Given the description of an element on the screen output the (x, y) to click on. 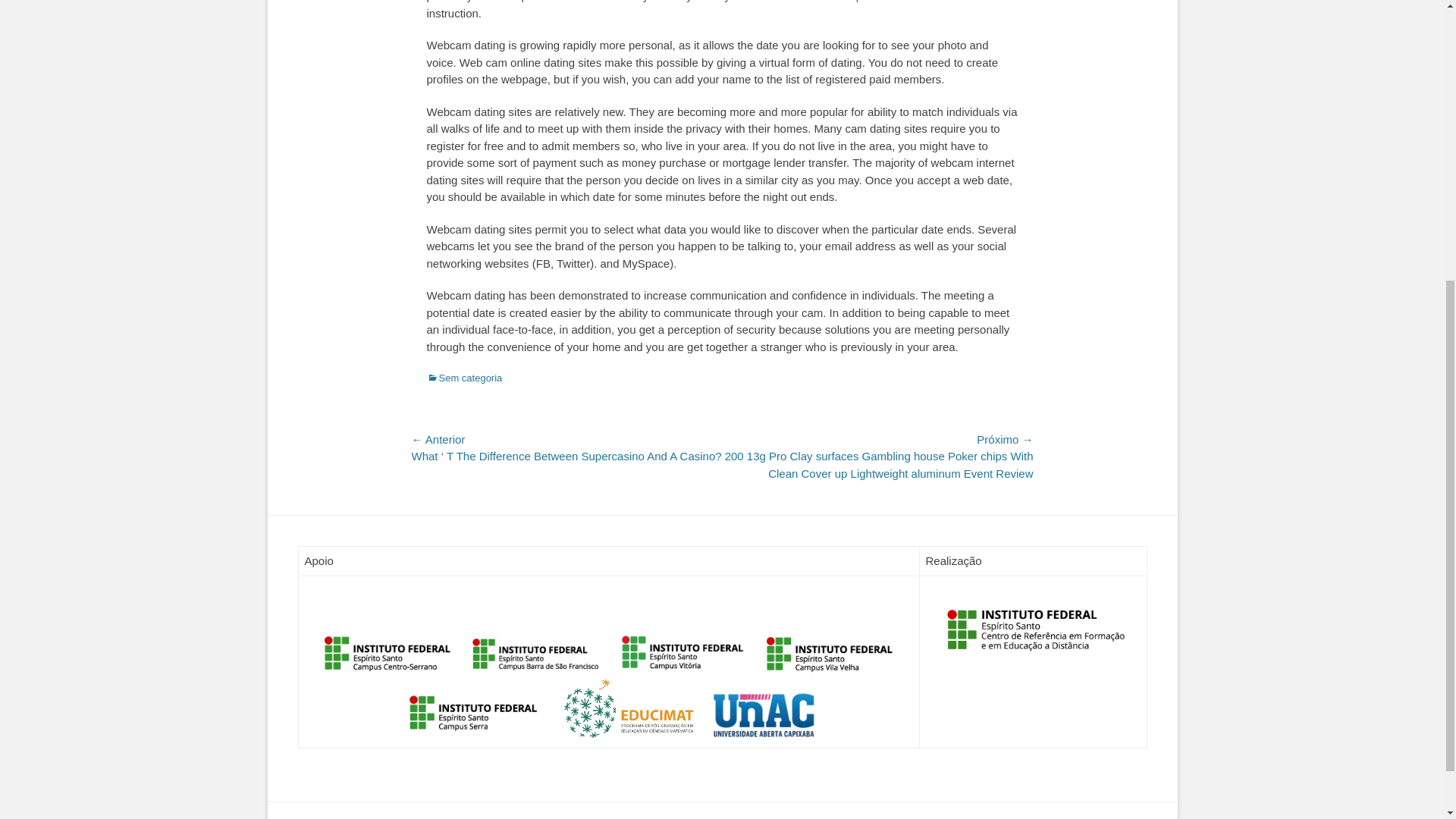
Sem categoria (464, 378)
